Given the description of an element on the screen output the (x, y) to click on. 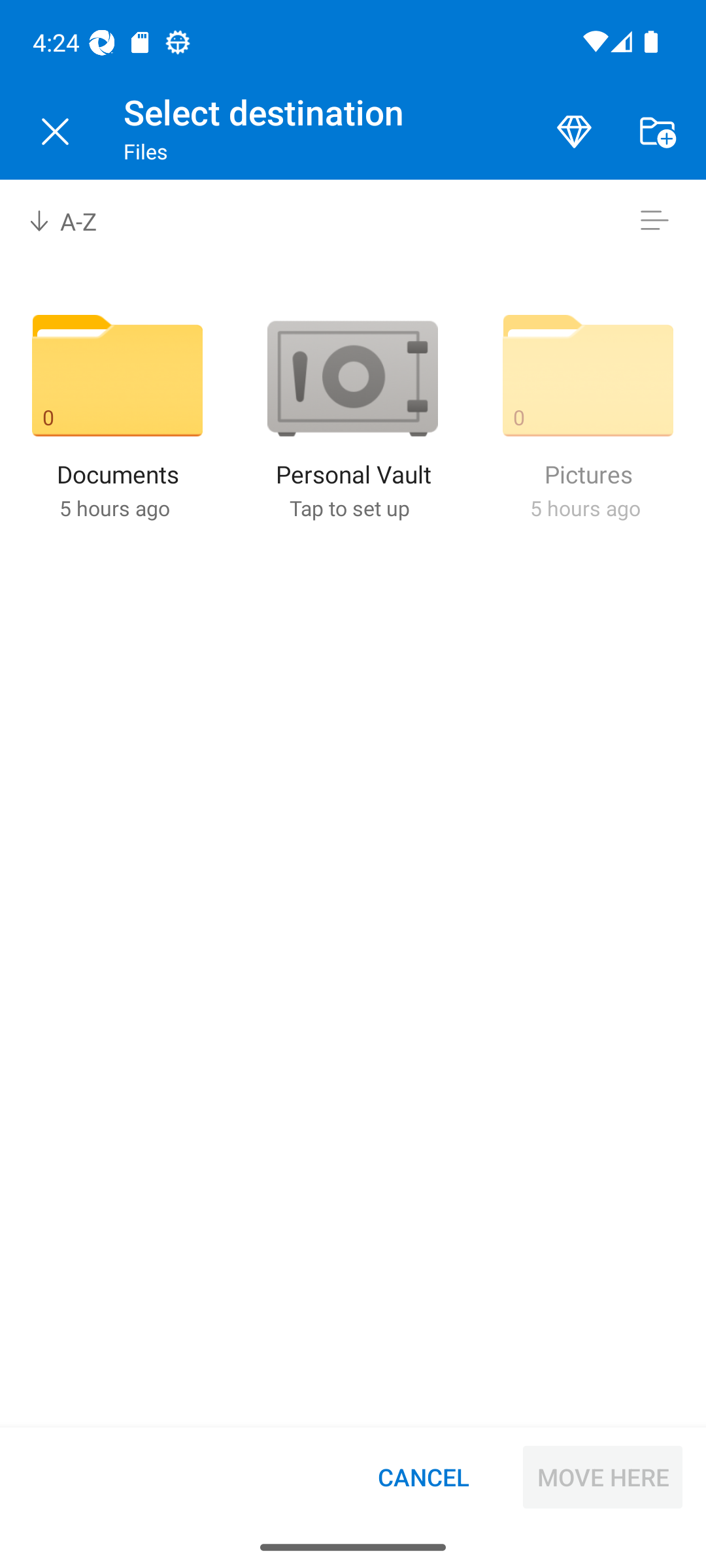
Close (55, 131)
Premium button (574, 131)
More actions button (656, 131)
A-Z Sort by combo box, sort by name, A to Z (76, 220)
Switch to list view (654, 220)
Folder Folder 0 0 items Documents 5 hours ago (117, 415)
Personal Vault Tap to set up (352, 415)
Folder Folder 0 0 items Pictures 5 hours ago (587, 415)
5 hours ago (113, 507)
Tap to set up (348, 507)
5 hours ago (584, 507)
CANCEL (423, 1476)
MOVE HERE (602, 1476)
